Given the description of an element on the screen output the (x, y) to click on. 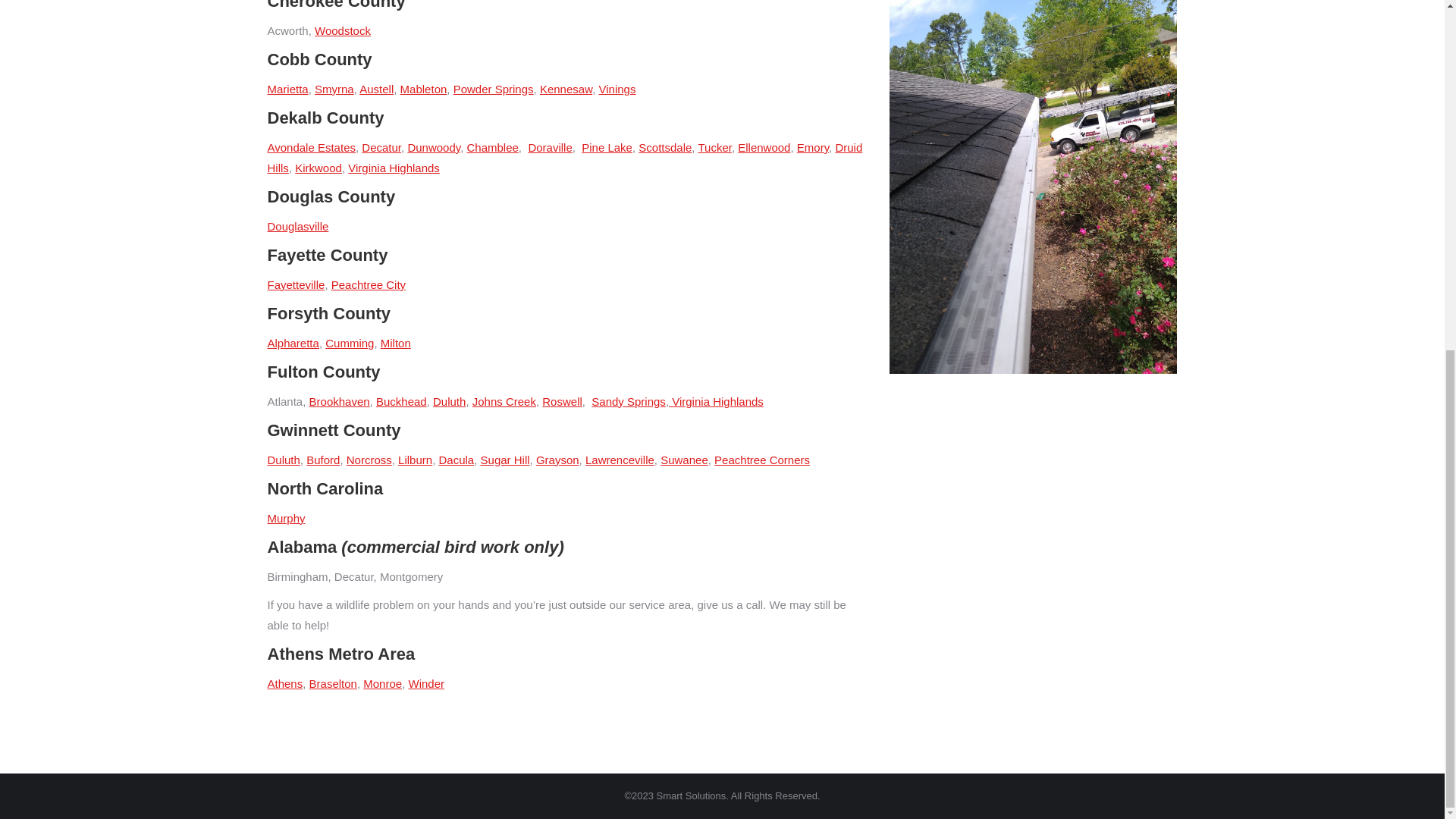
armor guard smart solutions (1032, 187)
